Given the description of an element on the screen output the (x, y) to click on. 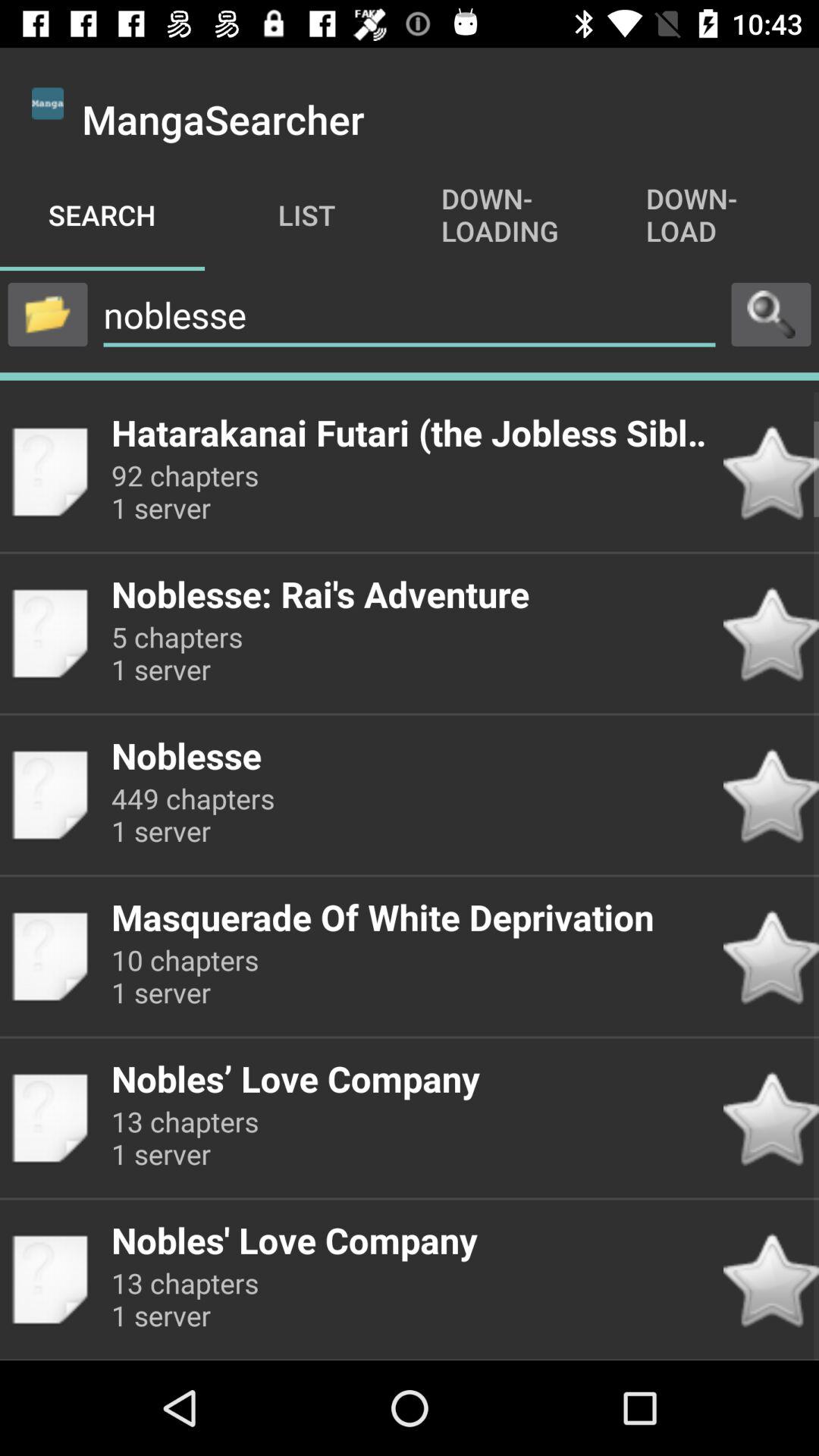
execute search (771, 314)
